Given the description of an element on the screen output the (x, y) to click on. 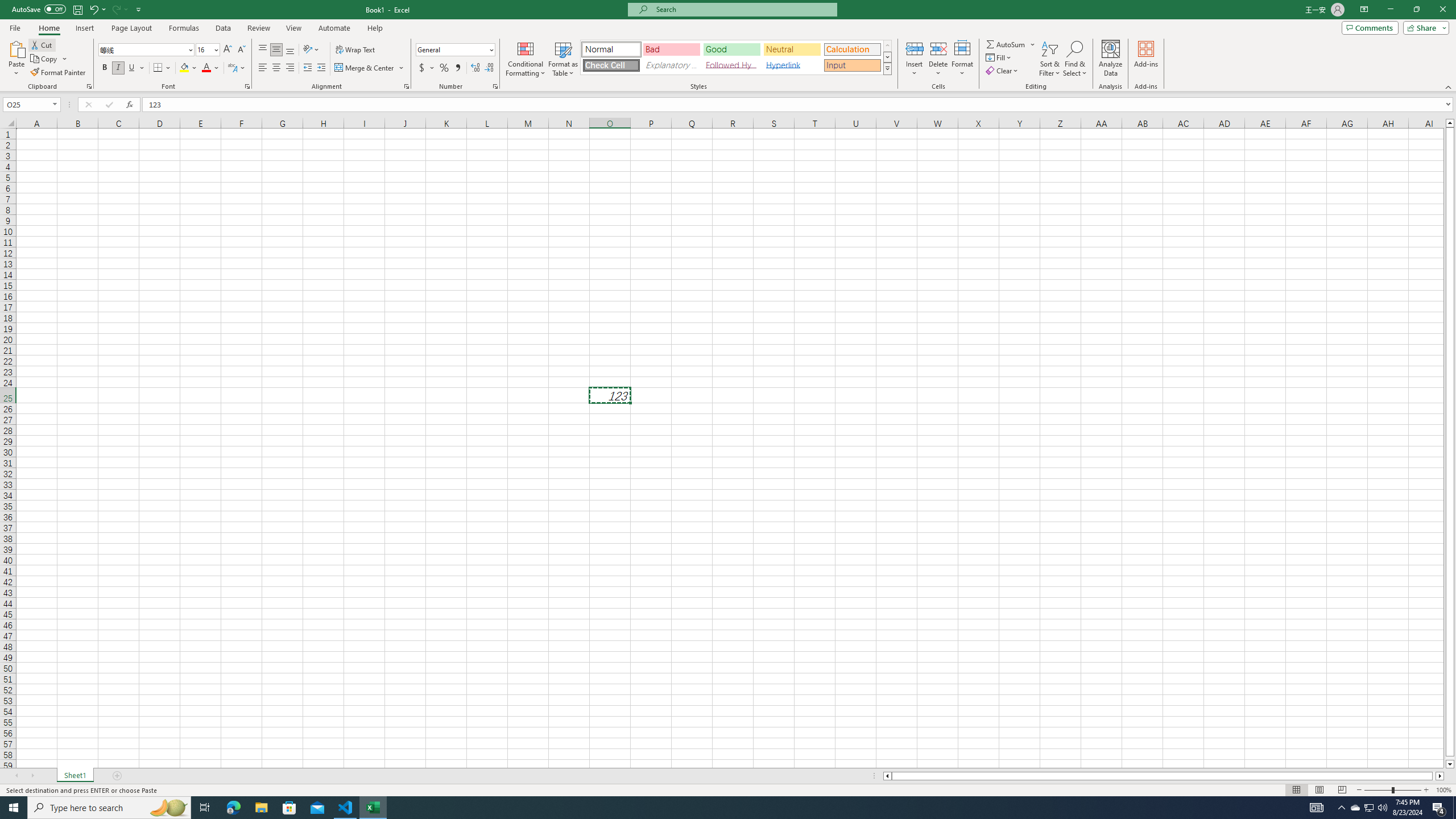
Increase Indent (320, 67)
Top Align (262, 49)
Format Cell Number (494, 85)
Input (852, 65)
AutoSum (1011, 44)
Font (147, 49)
Fill Color RGB(255, 255, 0) (183, 67)
Cell Styles (887, 68)
